Given the description of an element on the screen output the (x, y) to click on. 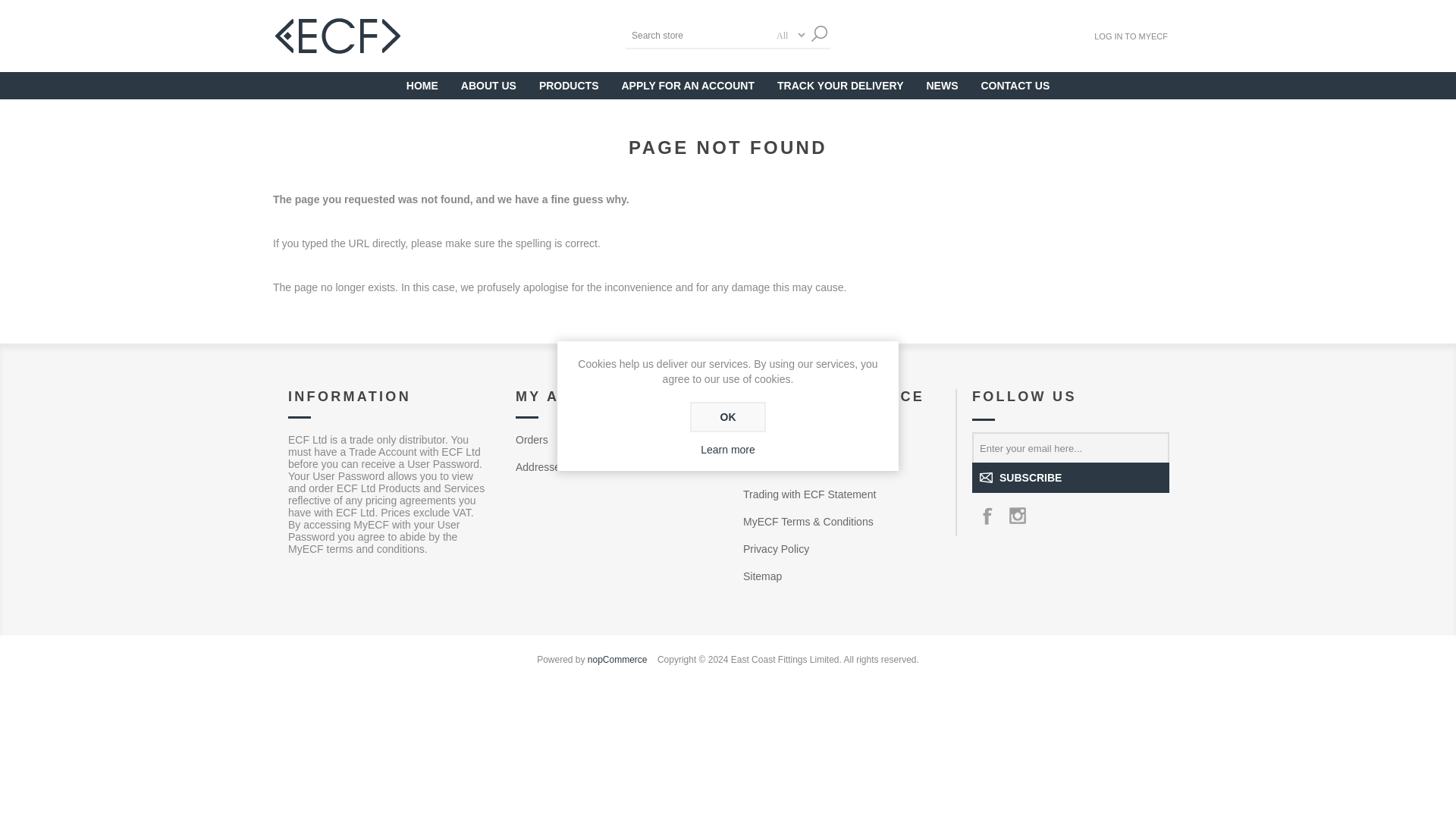
Search (818, 33)
East Coast Fittings Limited (338, 36)
ABOUT US (488, 85)
Home (421, 85)
About Us (488, 85)
LOG IN TO MYECF (1130, 35)
HOME (421, 85)
